Given the description of an element on the screen output the (x, y) to click on. 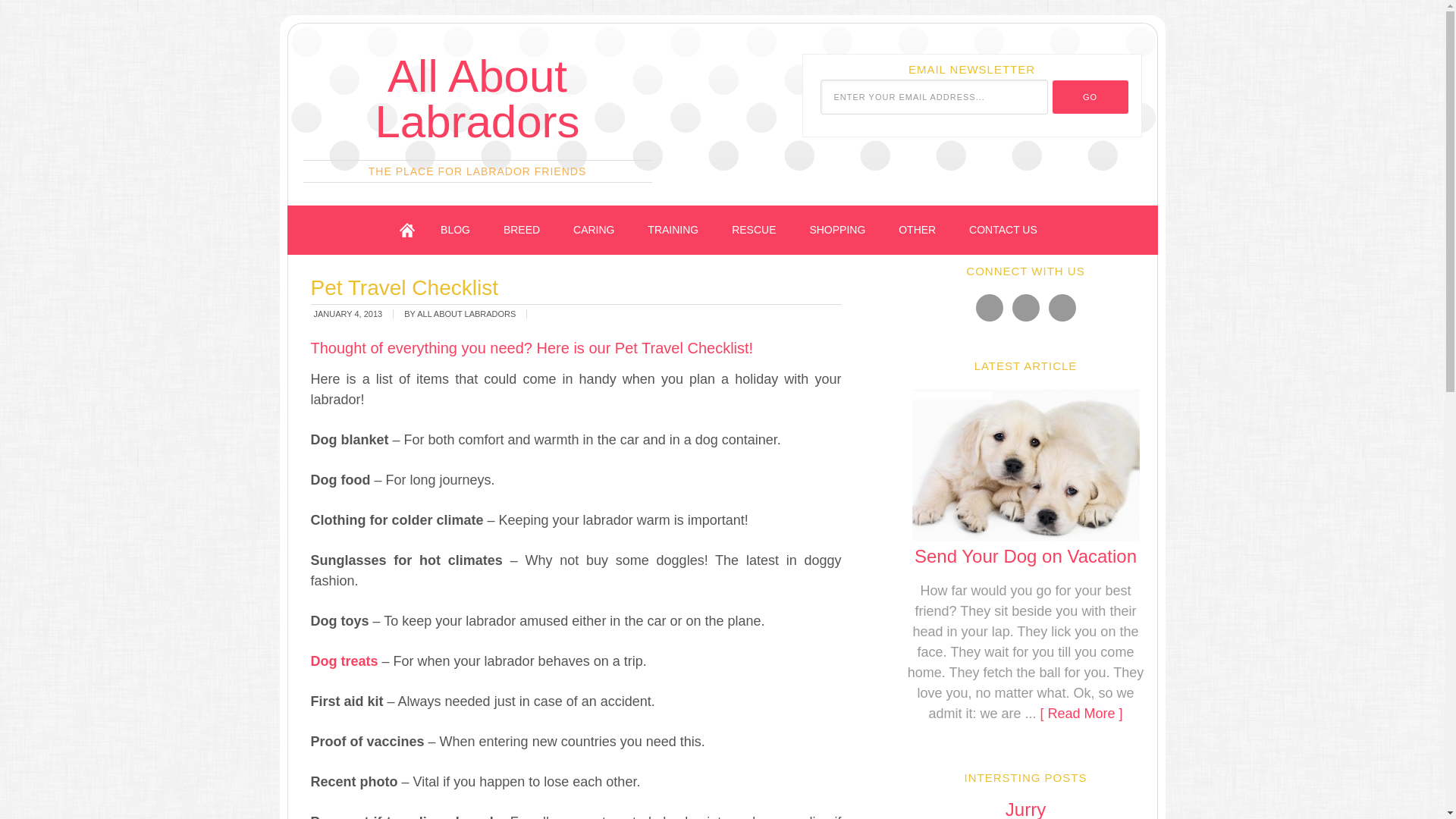
CONTACT US (1002, 229)
All About Labradors (476, 98)
Dog treats (344, 661)
Labradors Blog (454, 229)
SHOPPING (836, 229)
OTHER (916, 229)
CARING (592, 229)
BLOG (454, 229)
TRAINING (672, 229)
Go (1090, 96)
